Given the description of an element on the screen output the (x, y) to click on. 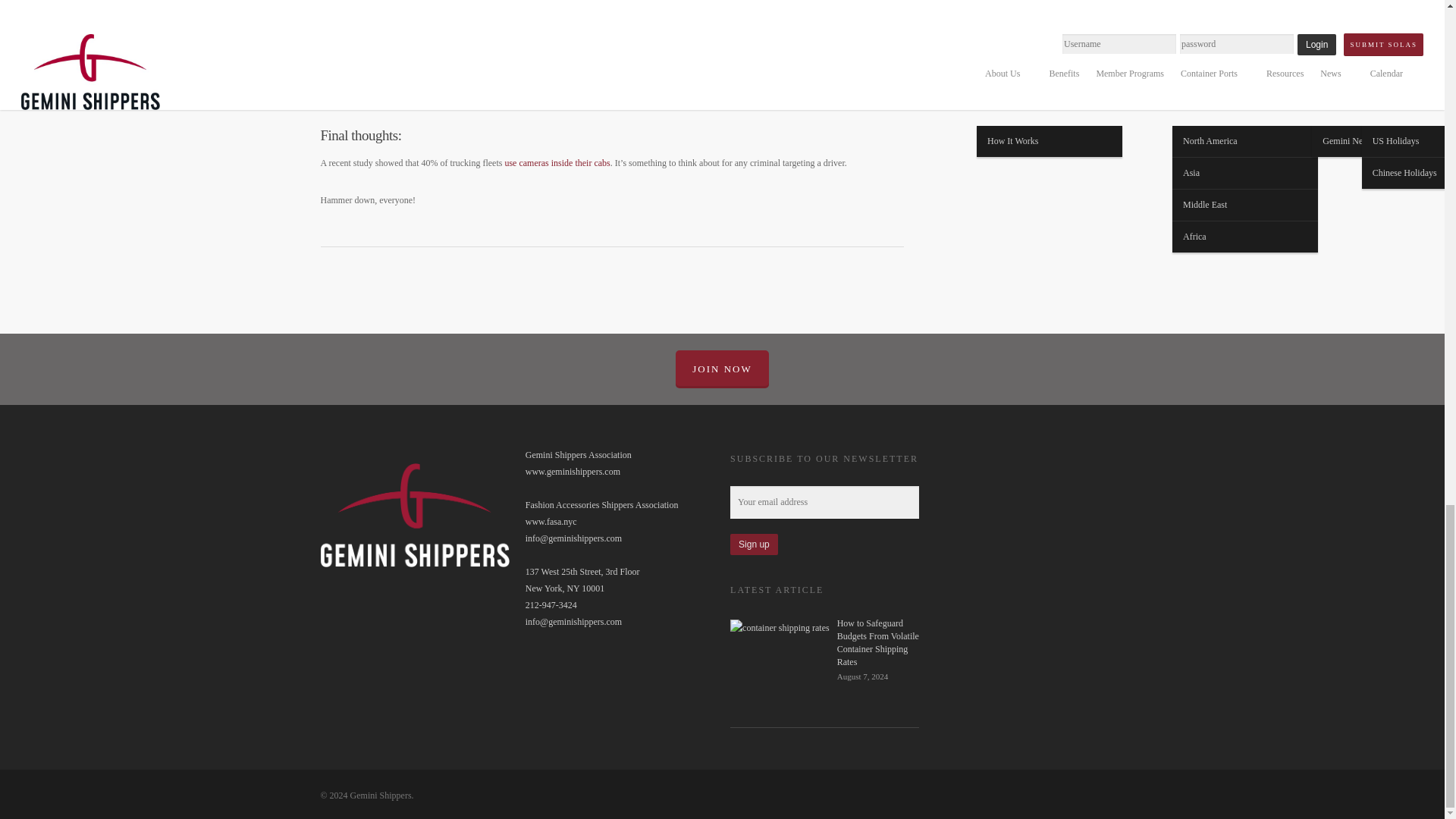
Sign up (753, 544)
